Given the description of an element on the screen output the (x, y) to click on. 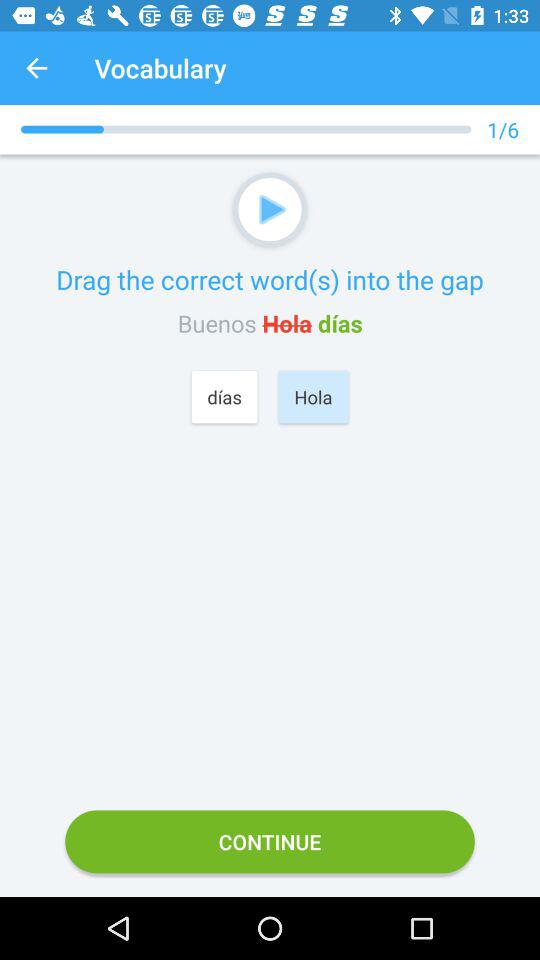
open the item next to vocabulary icon (36, 68)
